Given the description of an element on the screen output the (x, y) to click on. 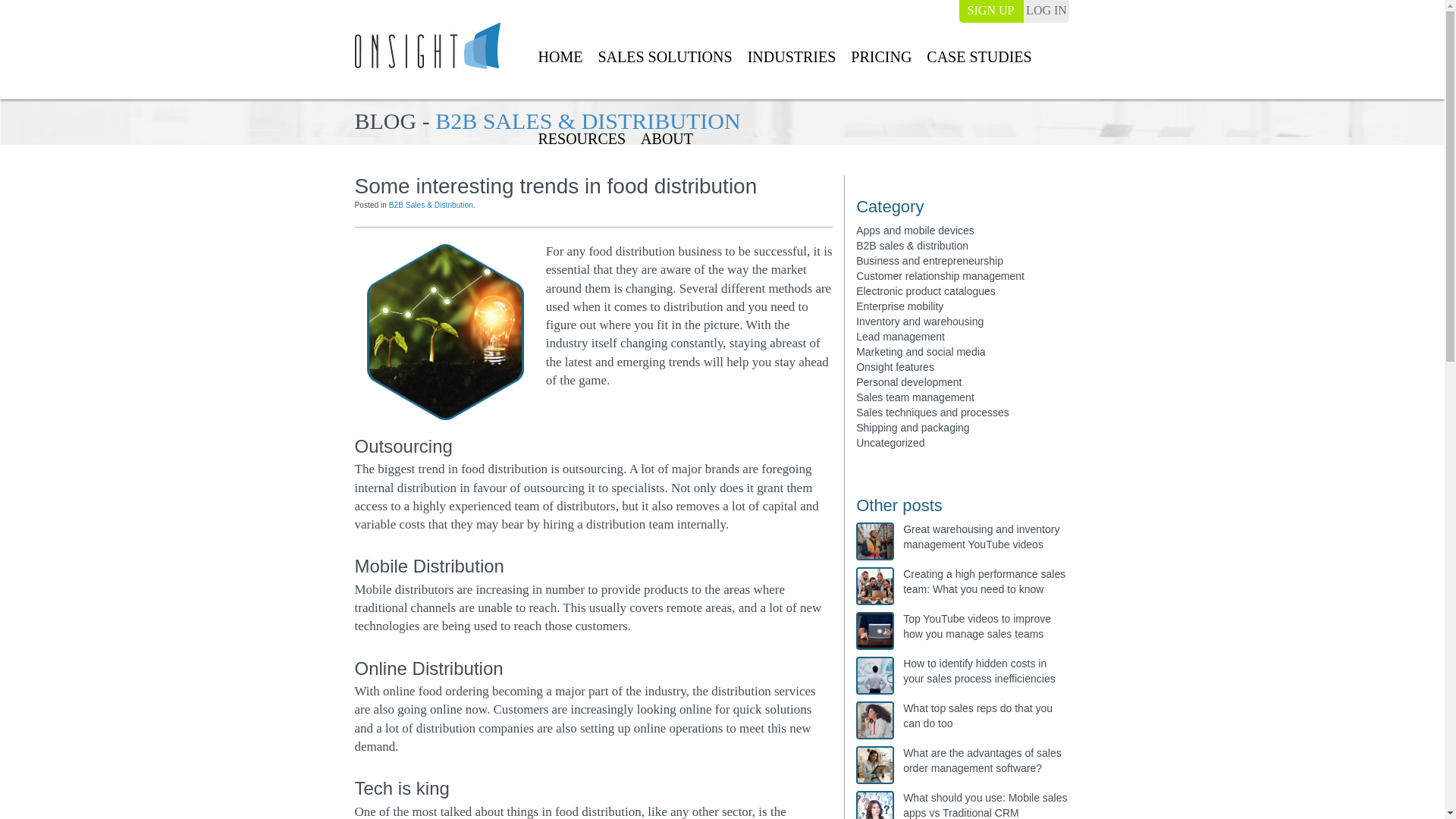
PRICING (881, 57)
RESOURCES (581, 139)
HOME (560, 57)
SIGN UP (990, 11)
CASE STUDIES (979, 57)
INDUSTRIES (792, 57)
LOG IN (1045, 11)
SALES SOLUTIONS (664, 57)
Onsight (427, 45)
ABOUT (667, 139)
